Given the description of an element on the screen output the (x, y) to click on. 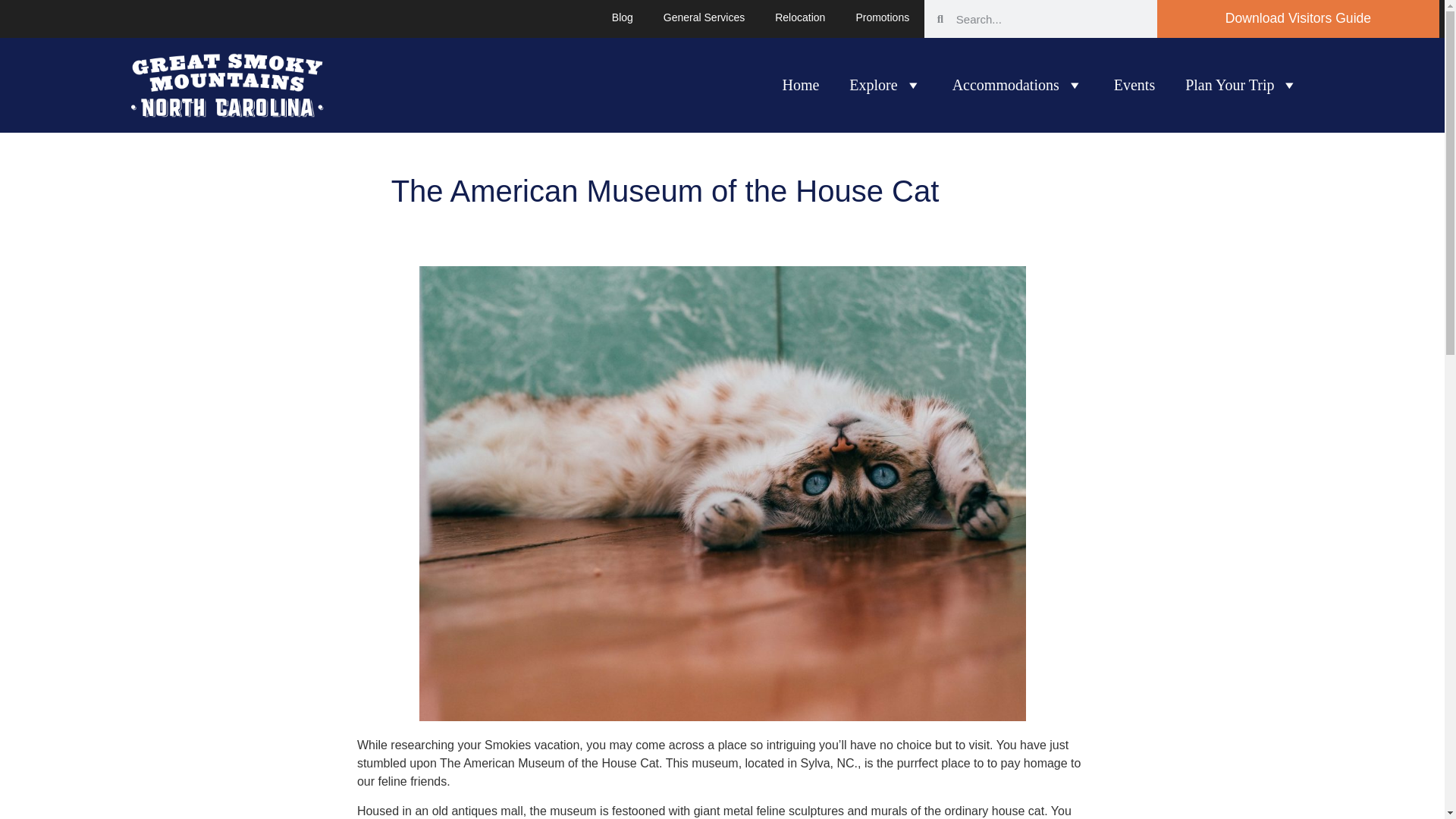
Home (800, 84)
Download Visitors Guide (1298, 17)
Promotions (882, 17)
Blog (621, 17)
Relocation (800, 17)
Explore (885, 84)
General Services (703, 17)
